Given the description of an element on the screen output the (x, y) to click on. 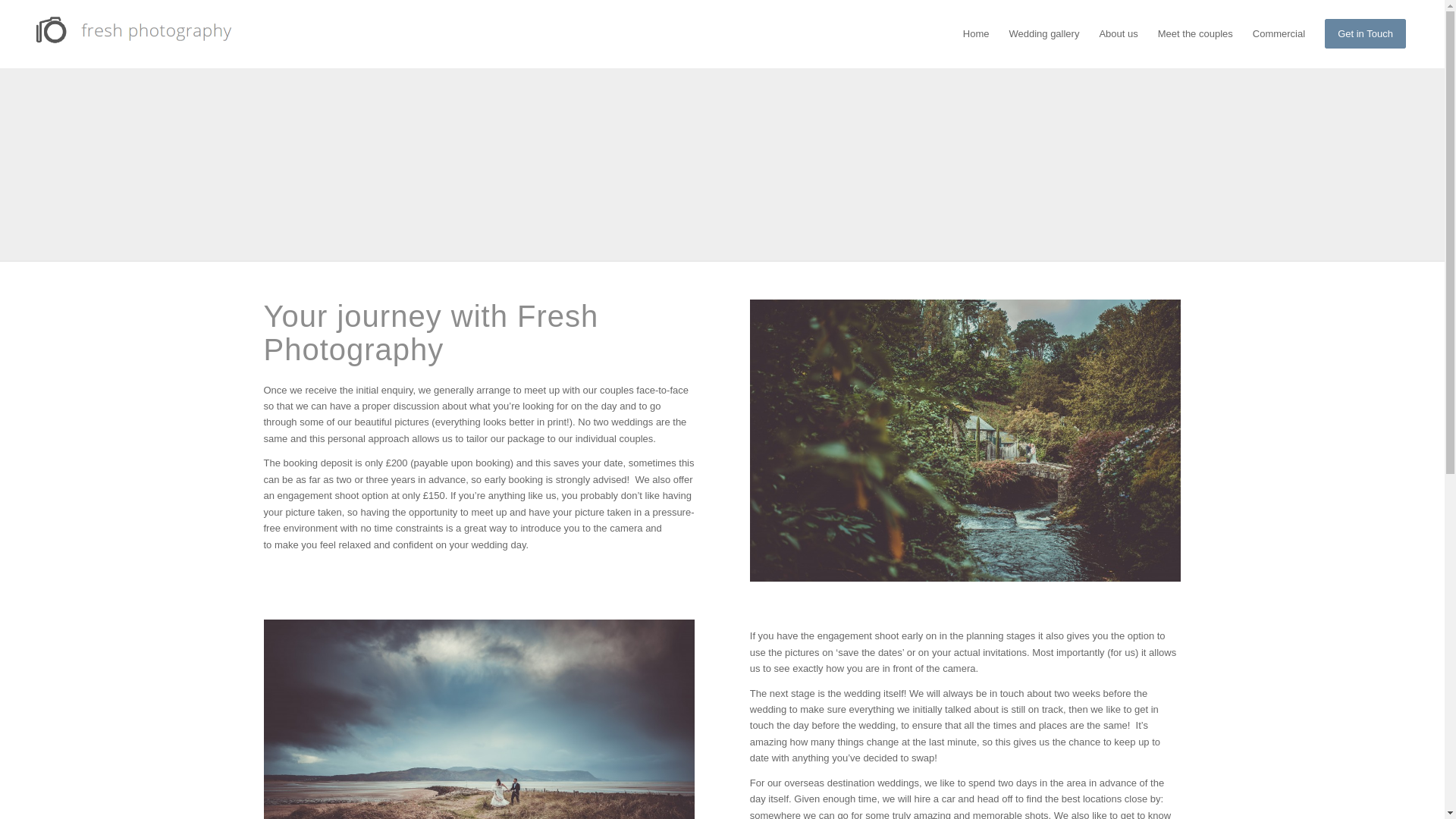
Meet the couples (1195, 33)
Get in Touch (1364, 33)
Wedding gallery (1043, 33)
Commercial (1278, 33)
